Given the description of an element on the screen output the (x, y) to click on. 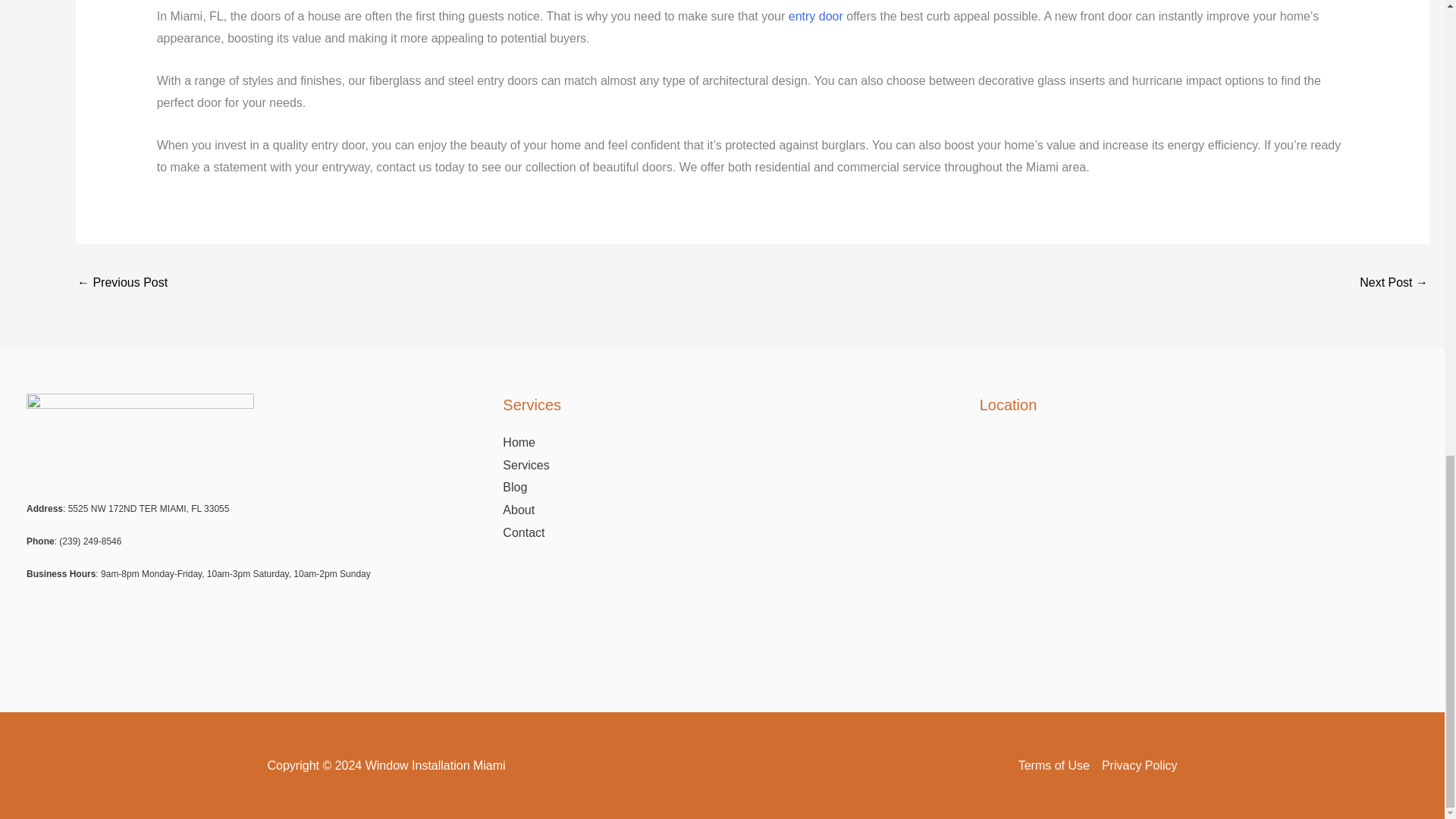
Add Dimension to Your Rooms With Bay Windows (122, 284)
